Given the description of an element on the screen output the (x, y) to click on. 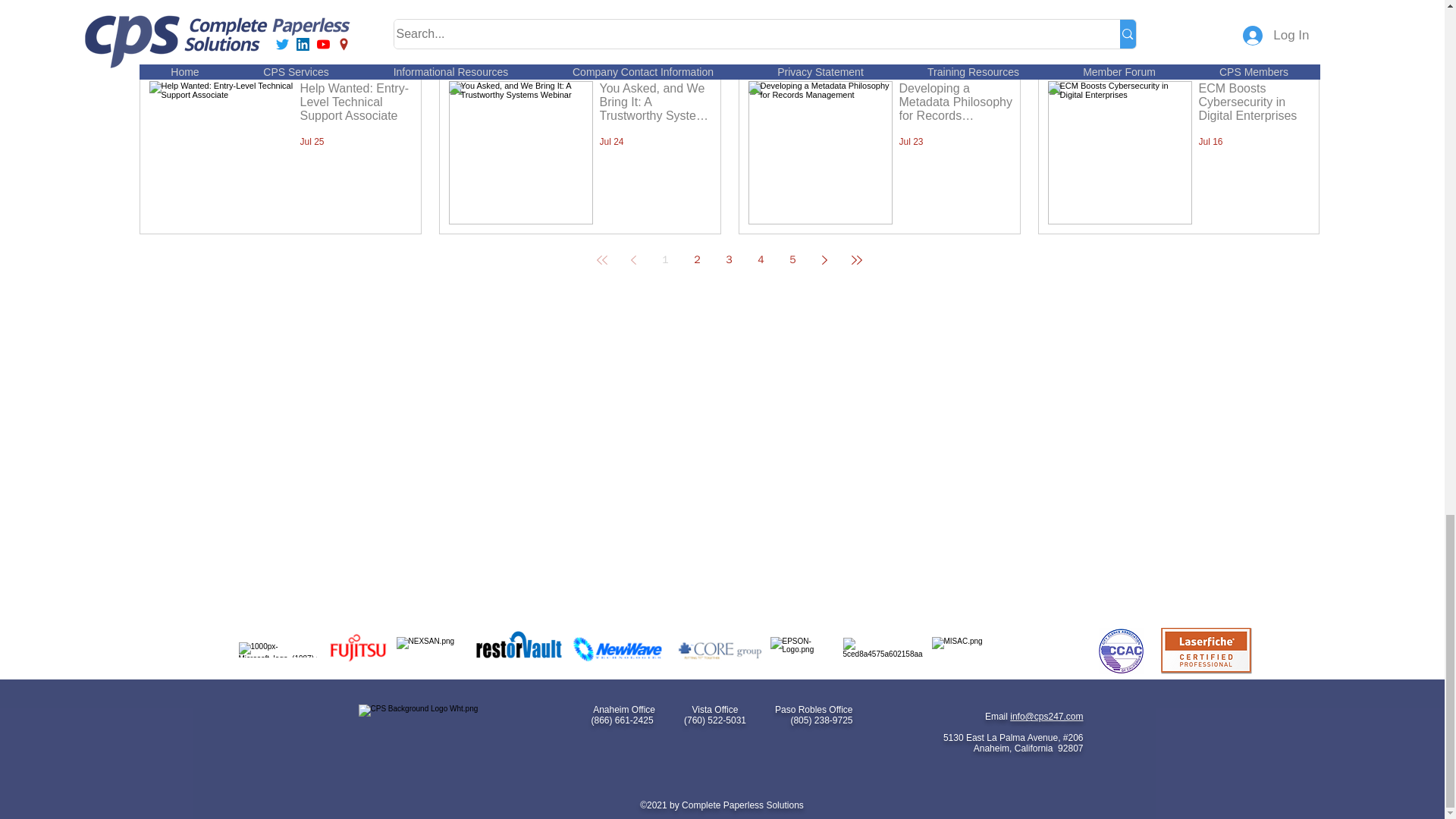
Help Wanted: Entry-Level Technical Support Associate (356, 104)
5 (792, 259)
Jul 23 (911, 141)
You Asked, and We Bring It: A Trustworthy Systems Webinar (655, 104)
ECM Boosts Cybersecurity in Digital Enterprises (1254, 104)
2 (697, 259)
4 (761, 259)
Developing a Metadata Philosophy for Records Management (956, 104)
Jul 16 (1210, 141)
Jul 25 (311, 141)
3 (729, 259)
Jul 24 (610, 141)
